Given the description of an element on the screen output the (x, y) to click on. 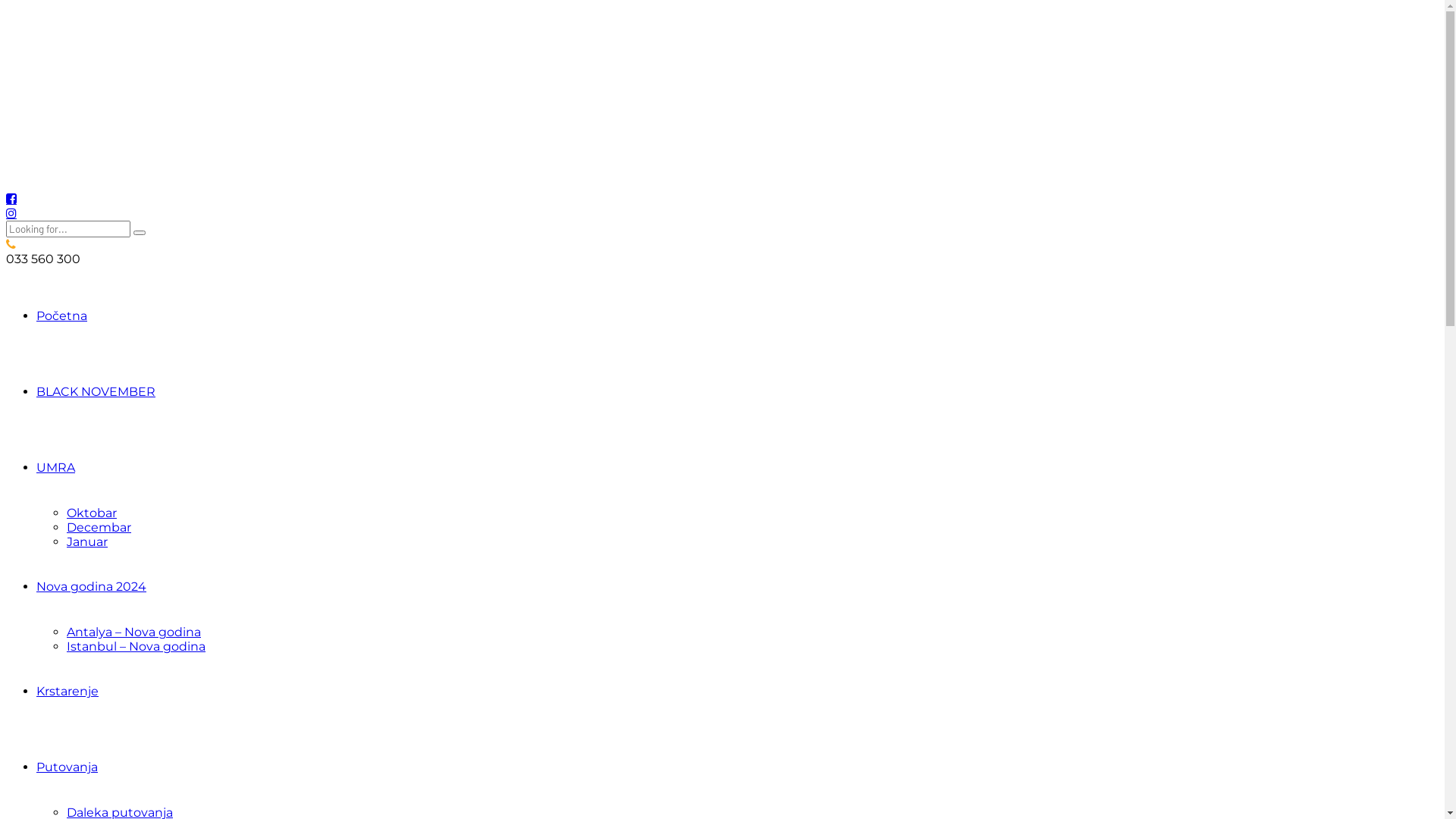
Putovanja Element type: text (66, 766)
BLACK NOVEMBER Element type: text (95, 391)
Nova godina 2024 Element type: text (91, 586)
Decembar Element type: text (98, 527)
Oktobar Element type: text (91, 512)
UMRA Element type: text (55, 467)
Januar Element type: text (86, 541)
Krstarenje Element type: text (67, 691)
